Given the description of an element on the screen output the (x, y) to click on. 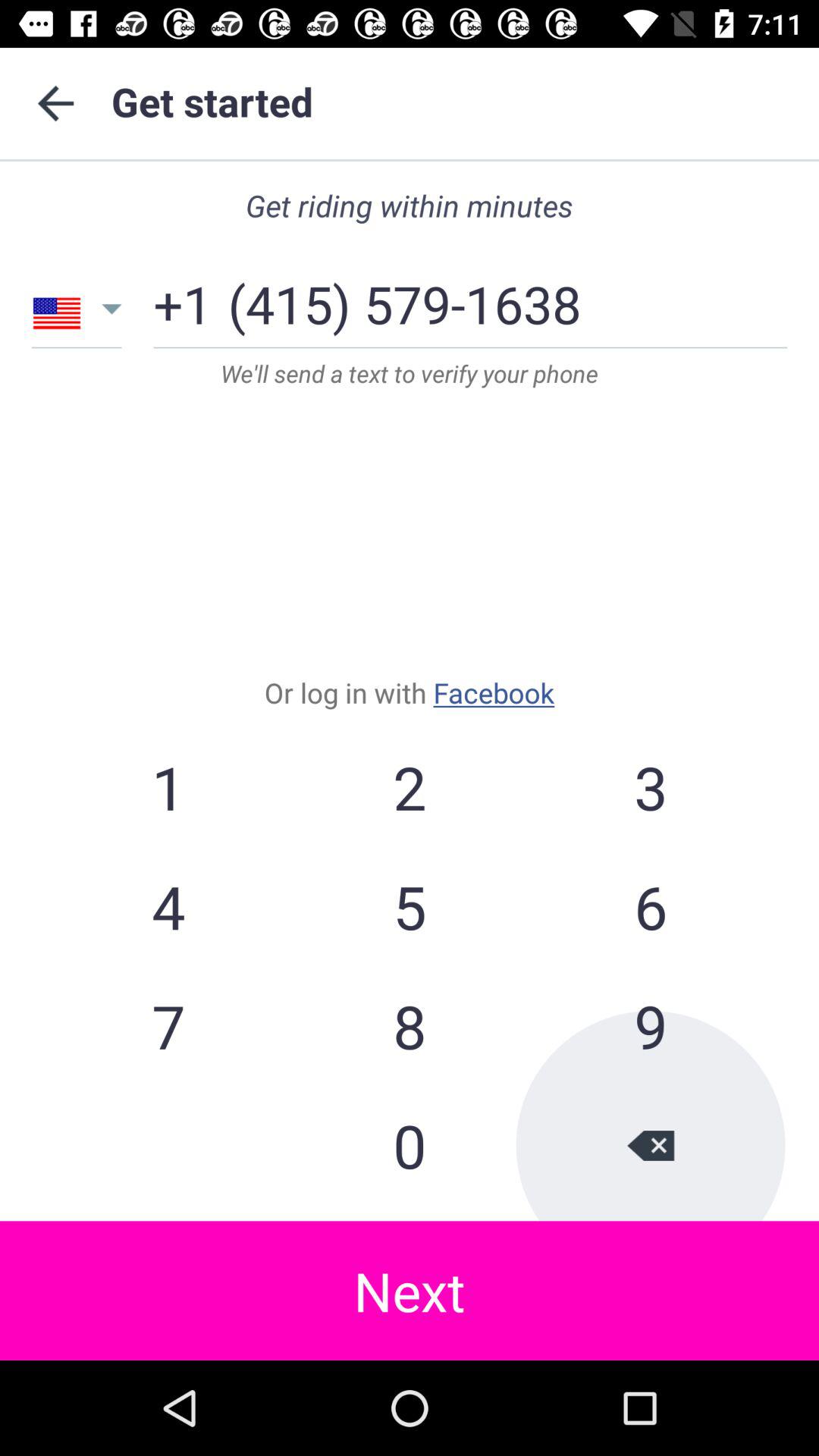
flip to 3 item (650, 786)
